Given the description of an element on the screen output the (x, y) to click on. 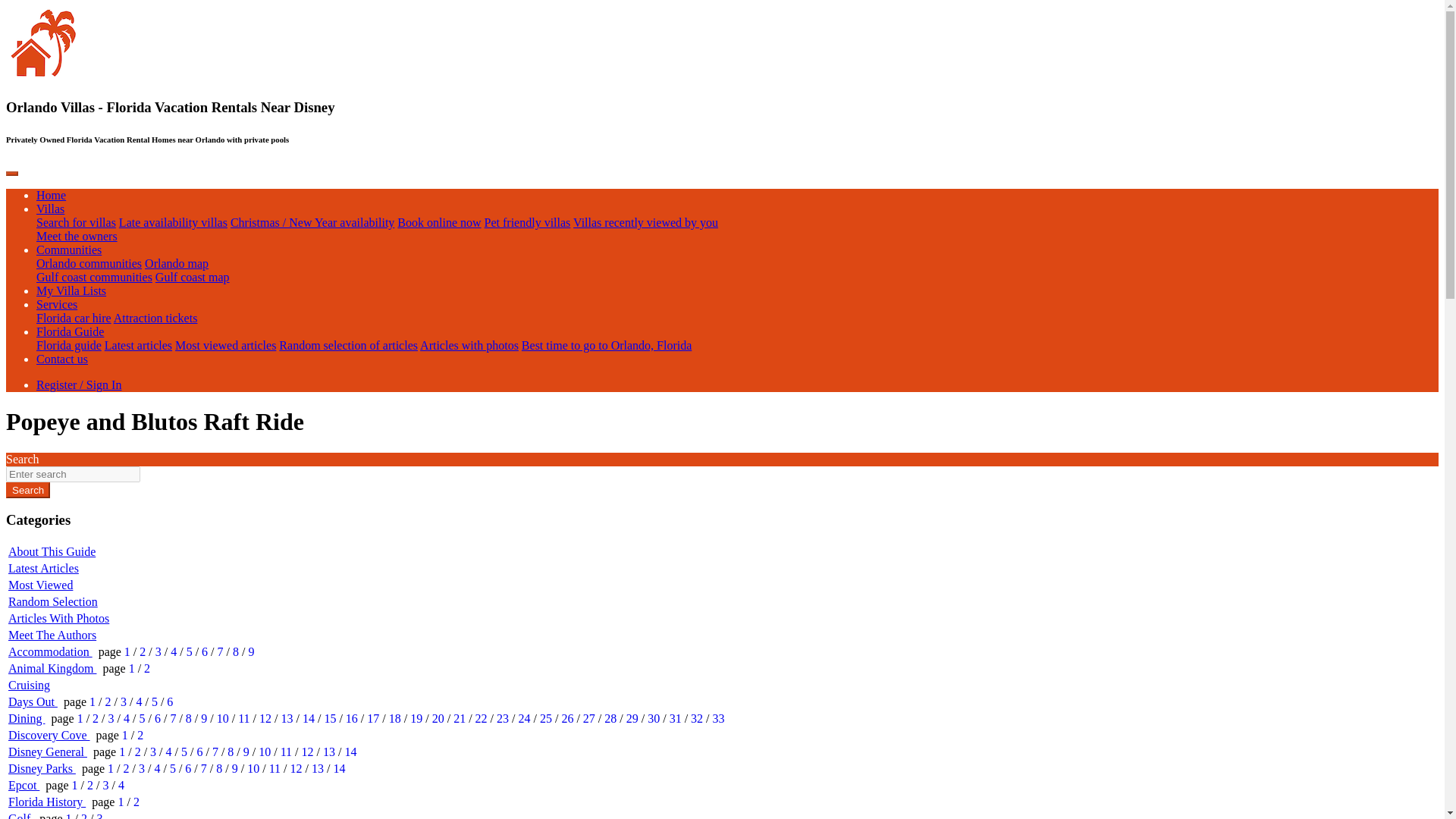
Random Selection (52, 601)
Attraction tickets (155, 318)
Villas (50, 208)
Florida guide (68, 345)
Orlando map (176, 263)
Search (27, 489)
Services (56, 304)
Gulf coast communities (94, 277)
Random selection of articles (348, 345)
My Villa Lists (71, 290)
Best time to go to Orlando, Florida (606, 345)
Gulf coast map (192, 277)
About This Guide (52, 551)
Home (50, 195)
Orlando communities (88, 263)
